Given the description of an element on the screen output the (x, y) to click on. 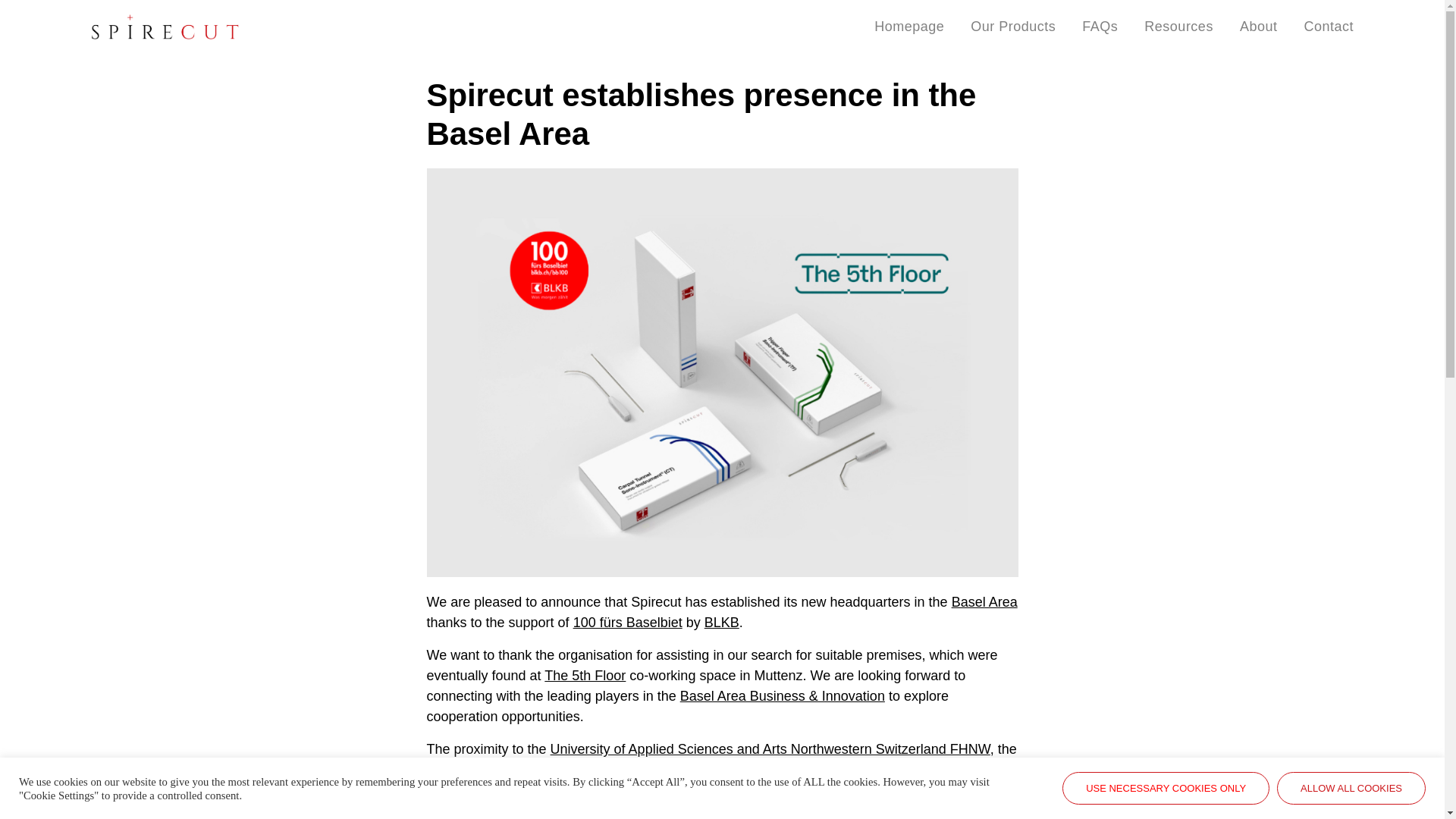
Basel Area (984, 601)
Contact (1328, 26)
The 5th Floor (585, 675)
Homepage (909, 26)
BLKB (721, 622)
Our Products (1013, 26)
University of Basel (482, 769)
Resources (1178, 26)
